Given the description of an element on the screen output the (x, y) to click on. 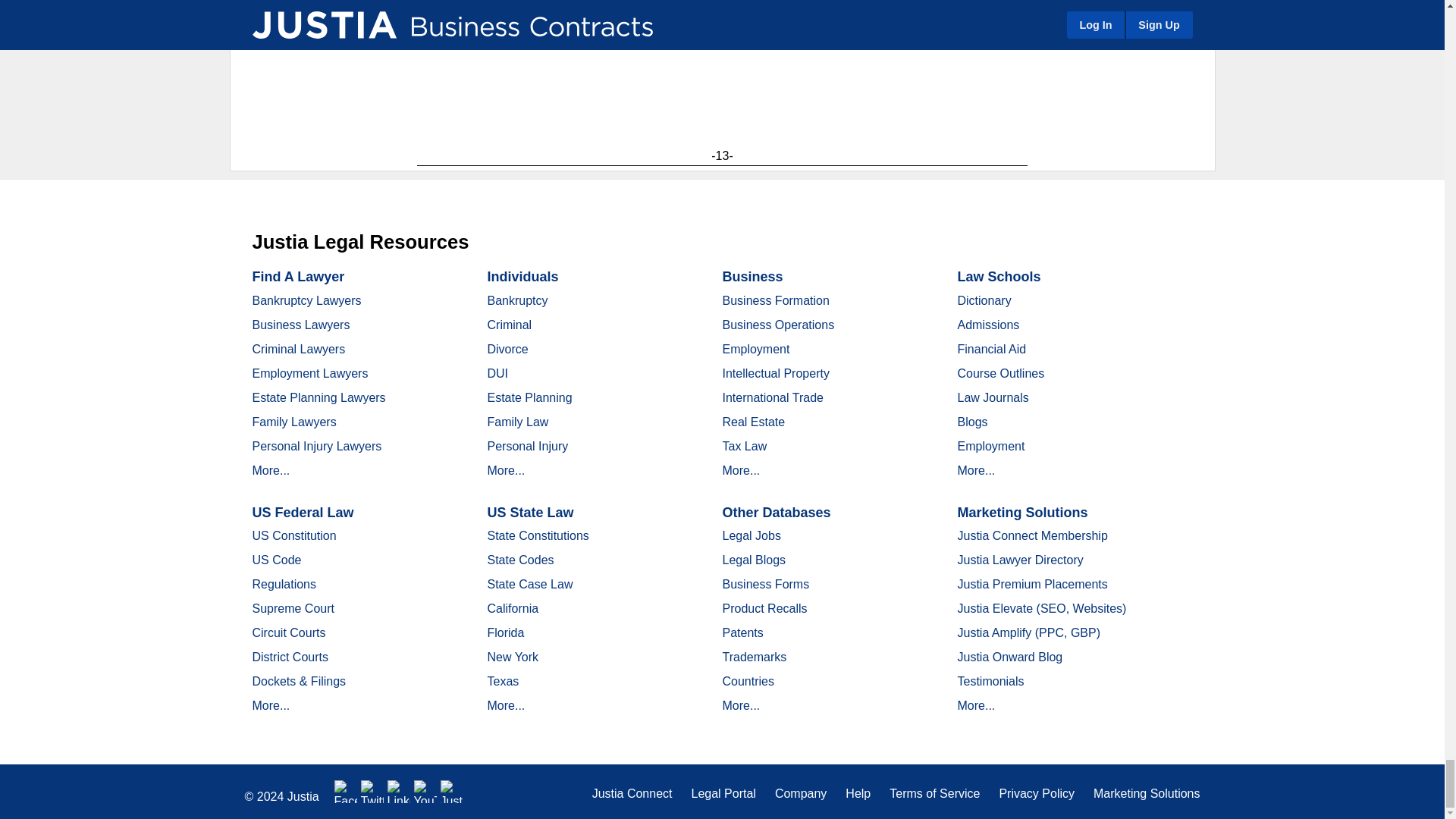
Personal Injury Lawyers (316, 445)
Employment Lawyers (309, 373)
Estate Planning Lawyers (318, 397)
LinkedIn (398, 791)
Facebook (345, 791)
Find A Lawyer (297, 276)
More... (270, 470)
Justia Lawyer Directory (452, 791)
YouTube (424, 791)
Business Lawyers (300, 324)
Family Lawyers (293, 421)
Criminal Lawyers (298, 349)
Twitter (372, 791)
Bankruptcy Lawyers (306, 300)
